Given the description of an element on the screen output the (x, y) to click on. 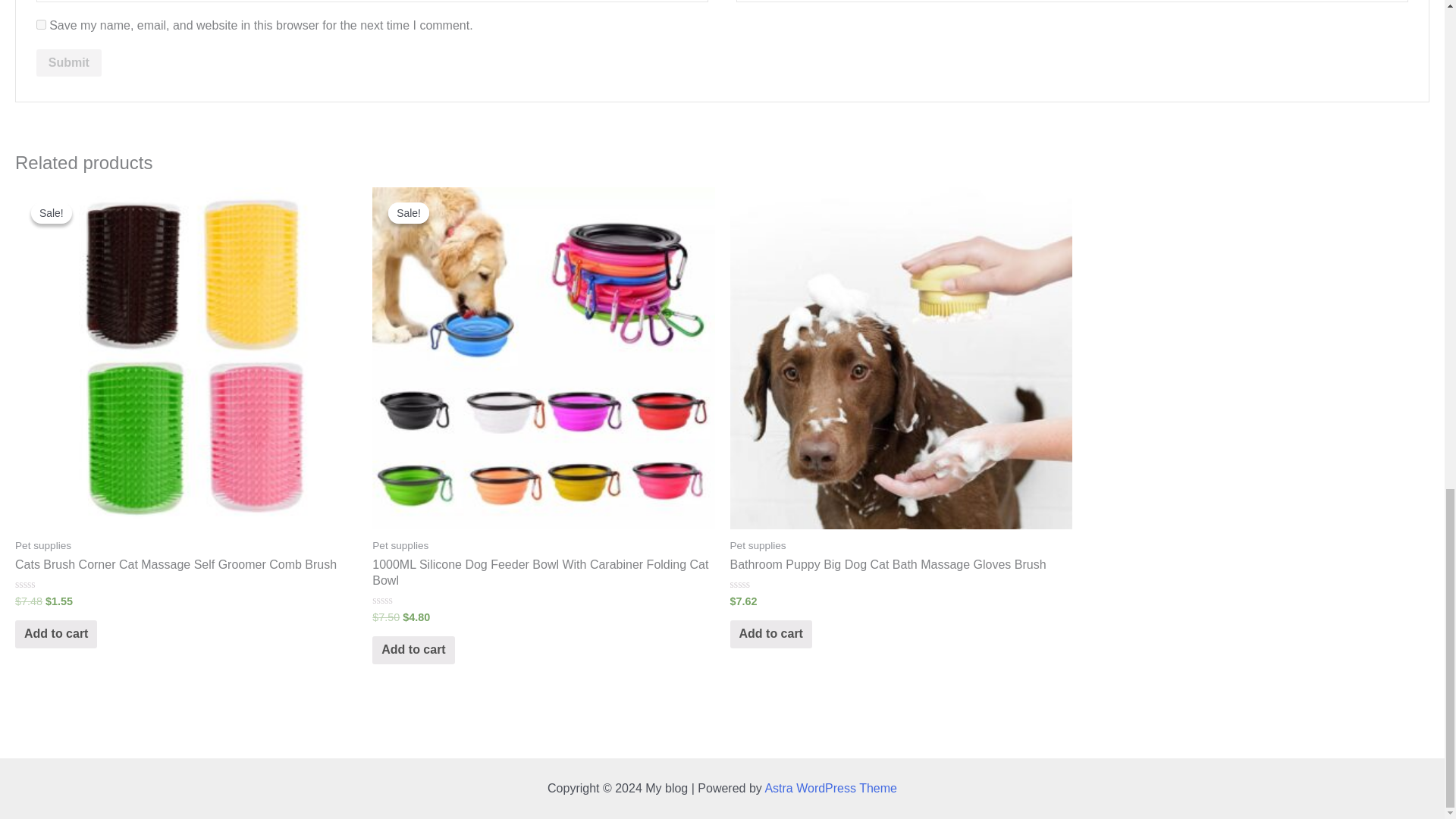
Add to cart (413, 650)
Cats Brush Corner Cat Massage Self Groomer Comb Brush (185, 565)
yes (41, 24)
Submit (68, 62)
Bathroom Puppy Big Dog Cat Bath Massage Gloves Brush (900, 565)
Submit (68, 62)
Add to cart (55, 633)
